Given the description of an element on the screen output the (x, y) to click on. 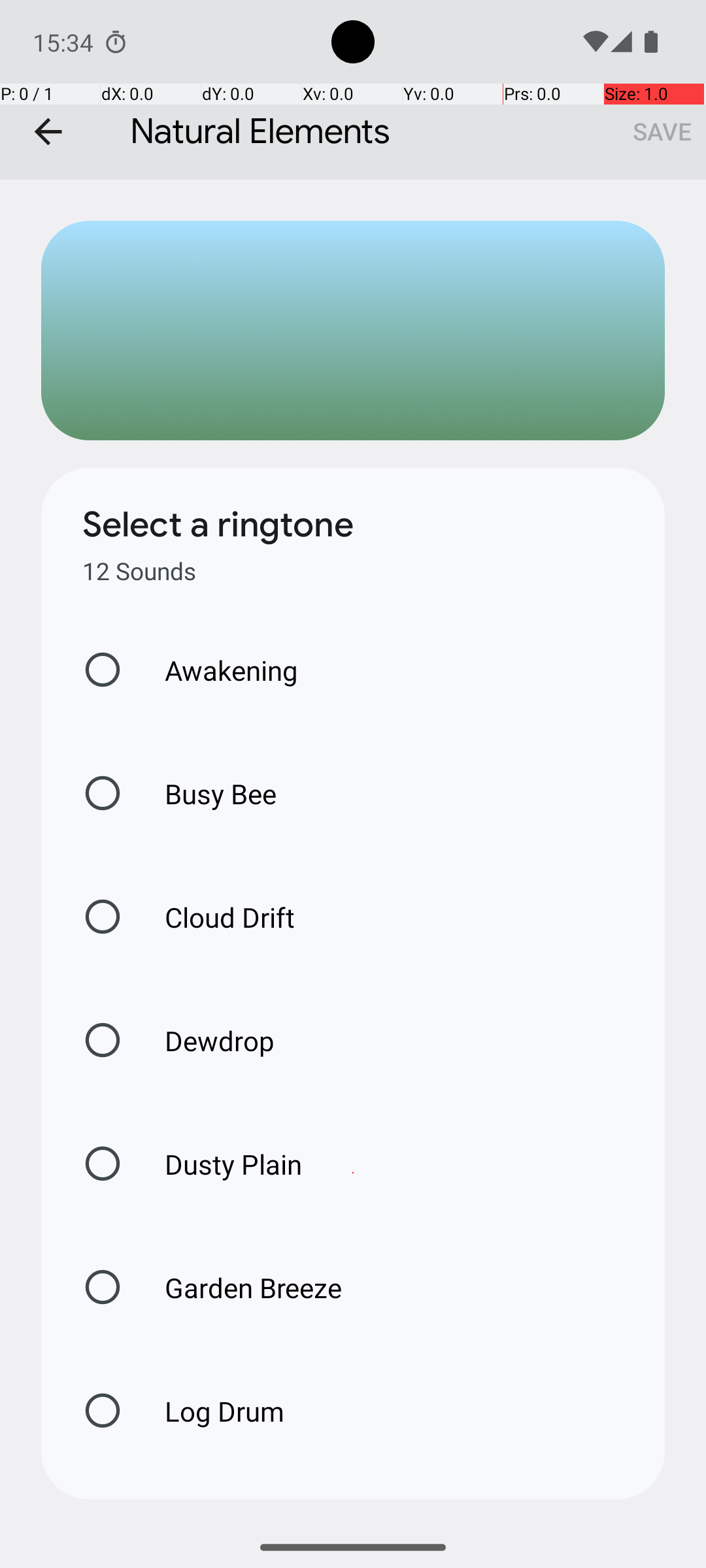
Awakening Element type: android.widget.TextView (217, 669)
Busy Bee Element type: android.widget.TextView (206, 793)
Cloud Drift Element type: android.widget.TextView (215, 916)
Dewdrop Element type: android.widget.TextView (205, 1040)
Dusty Plain Element type: android.widget.TextView (219, 1163)
Garden Breeze Element type: android.widget.TextView (239, 1287)
Log Drum Element type: android.widget.TextView (210, 1410)
